Given the description of an element on the screen output the (x, y) to click on. 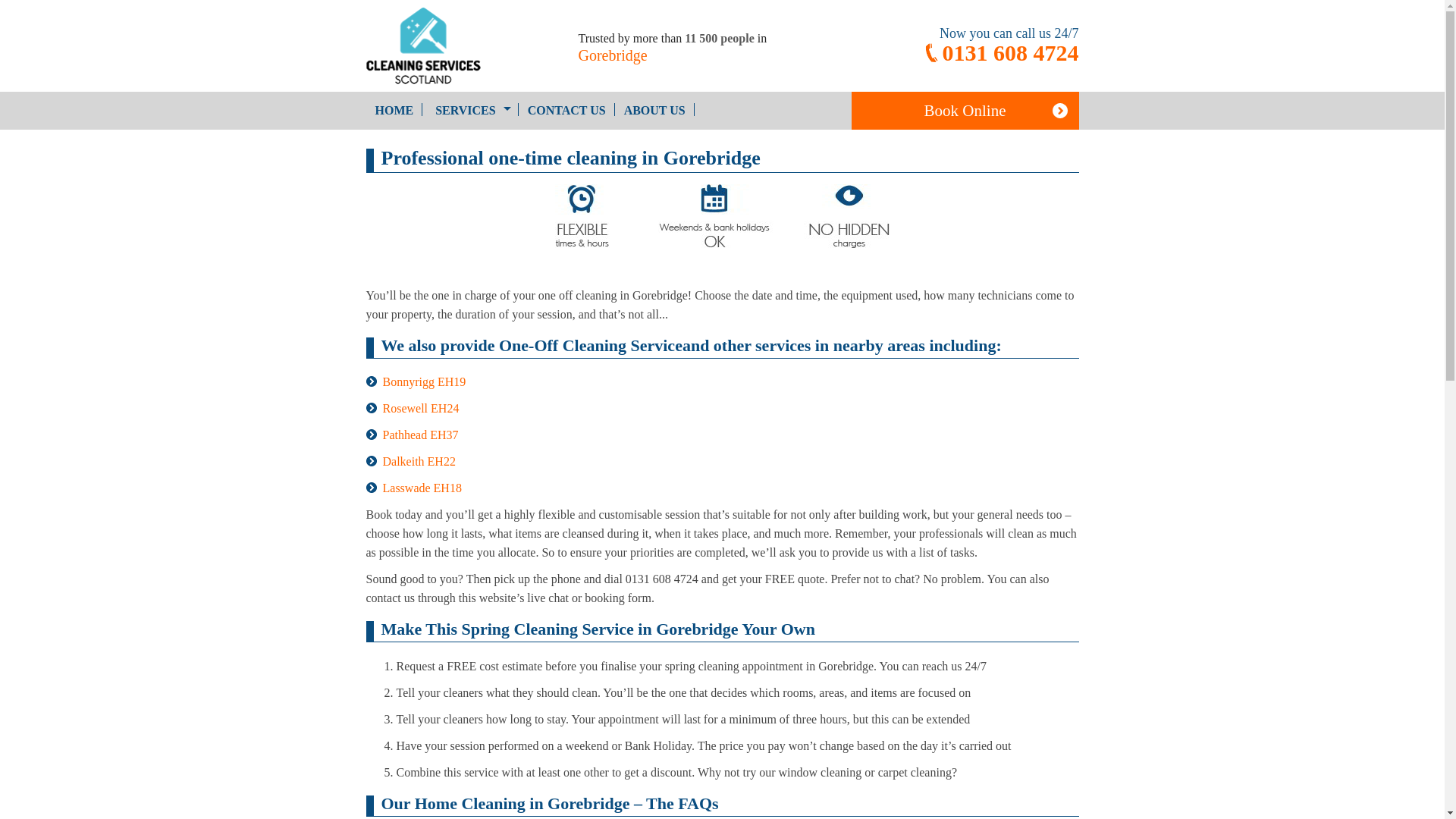
HOME (393, 109)
Top Scotland Cleaning Services (470, 109)
Bonnyrigg EH19 (423, 381)
CONTACT US (566, 109)
Contact Us (566, 109)
Pathhead EH37 (419, 434)
Home (393, 109)
ABOUT US (654, 109)
Dalkeith EH22 (417, 461)
Get Your Price Estimates (964, 110)
